Given the description of an element on the screen output the (x, y) to click on. 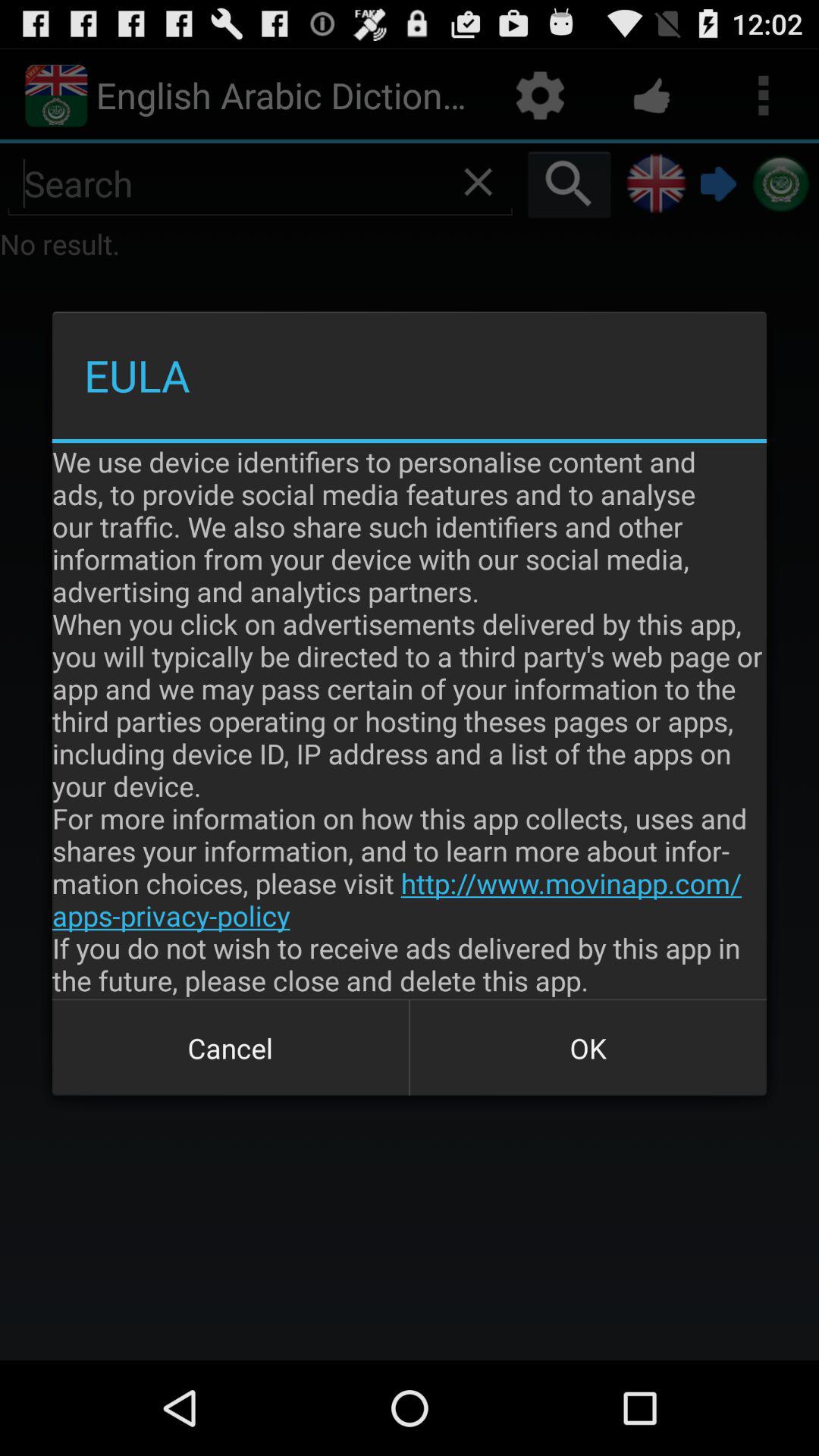
select the cancel button (230, 1047)
